Given the description of an element on the screen output the (x, y) to click on. 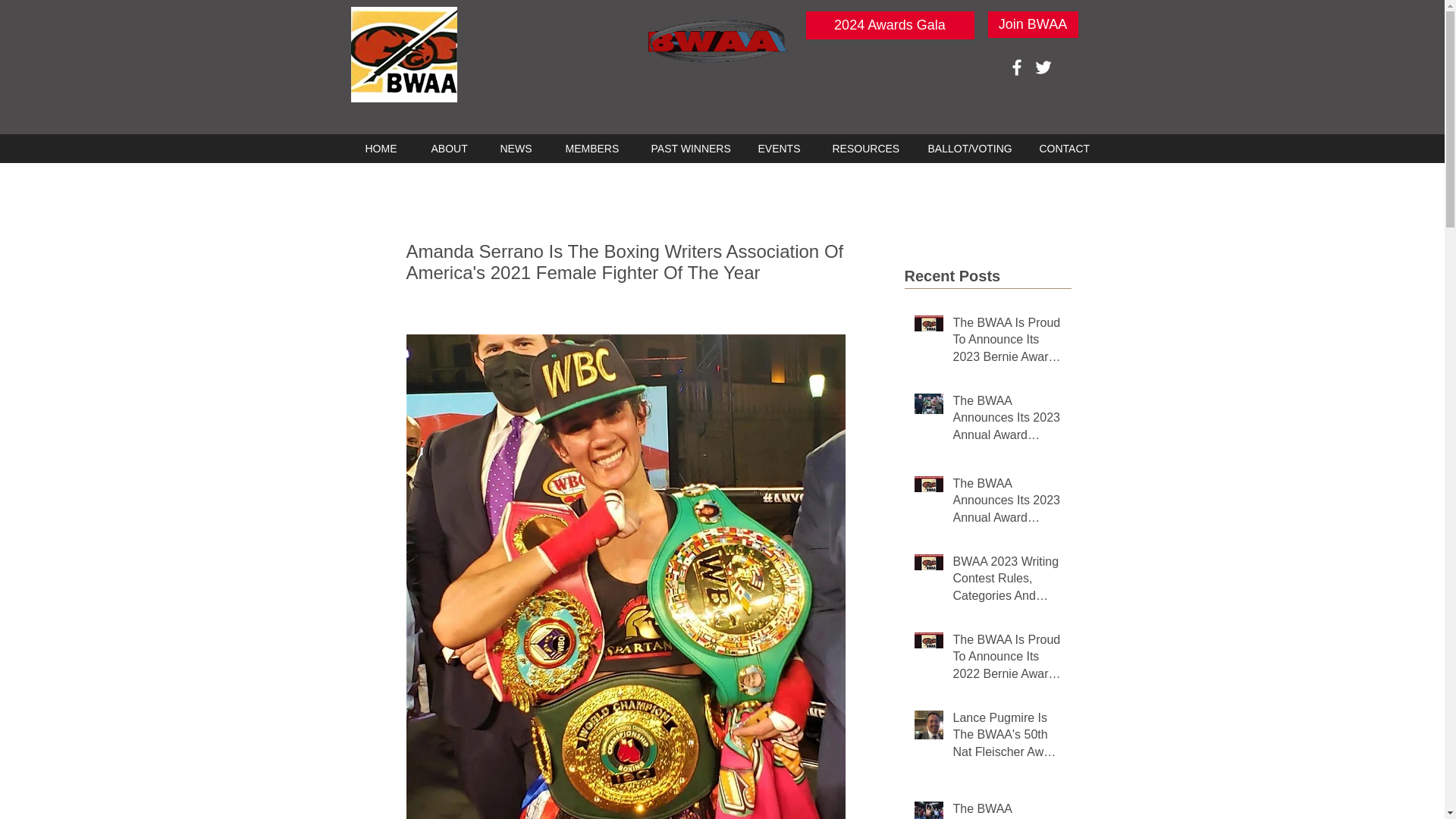
CONTACT (1059, 148)
The BWAA Announces Its 2023 Annual Award Winners (1006, 421)
Lance Pugmire Is The BWAA's 50th Nat Fleischer Award Winner (1006, 738)
The BWAA Announces Its 2022 Annual Award Winners (1006, 809)
NEWS (513, 148)
MEMBERS (588, 148)
The BWAA Is Proud To Announce Its 2023 Bernie Award Winners (1006, 342)
2024 Awards Gala (889, 25)
EVENTS (775, 148)
BWAA.gif (717, 41)
ABOUT (446, 148)
The BWAA Announces Its 2023 Annual Award Nominees (1006, 503)
HOME (379, 148)
The BWAA Is Proud To Announce Its 2022 Bernie Award Winners (1006, 659)
Boxing Logo.PNG (403, 54)
